Given the description of an element on the screen output the (x, y) to click on. 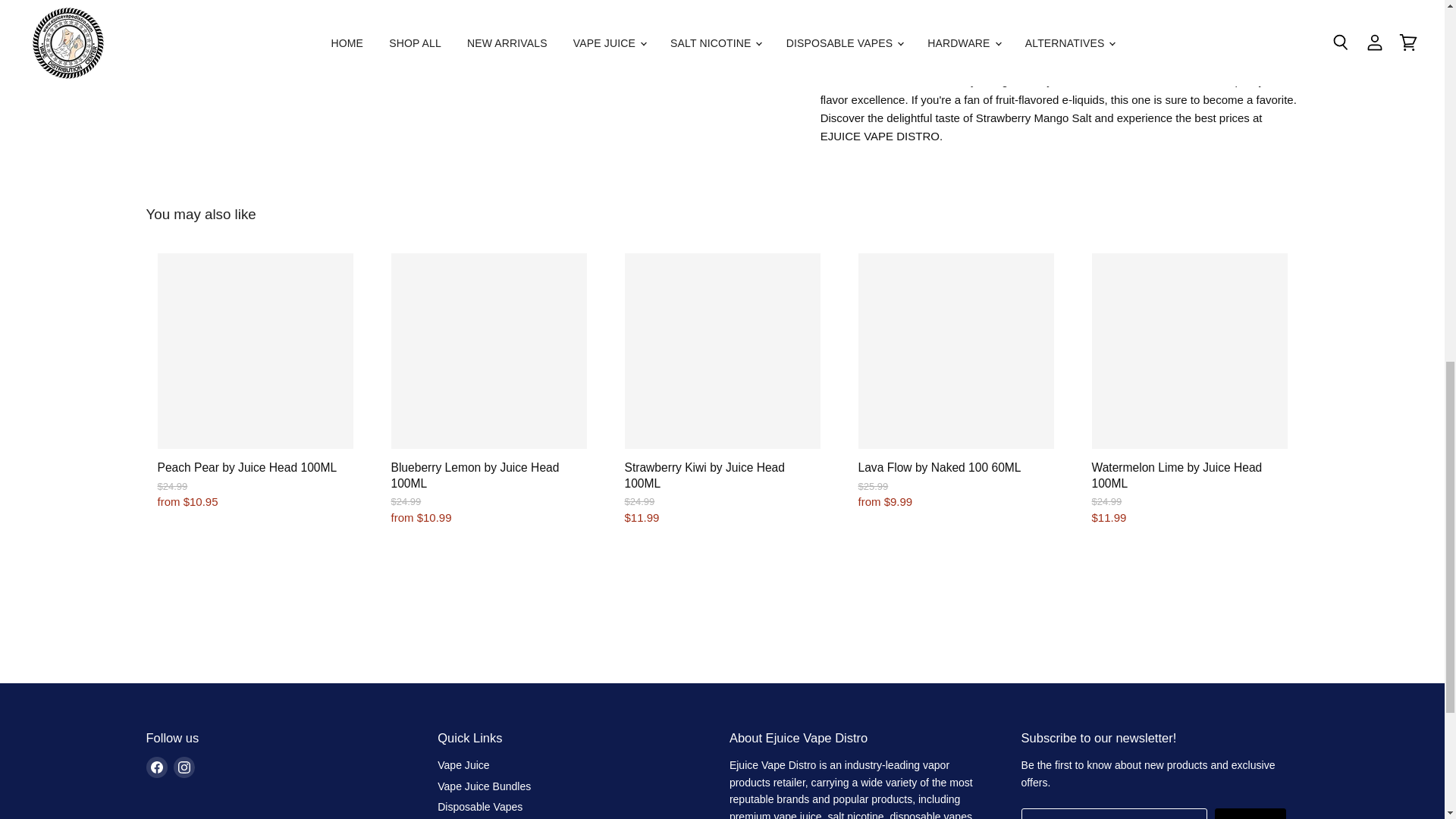
Instagram (183, 767)
Facebook (156, 767)
